Given the description of an element on the screen output the (x, y) to click on. 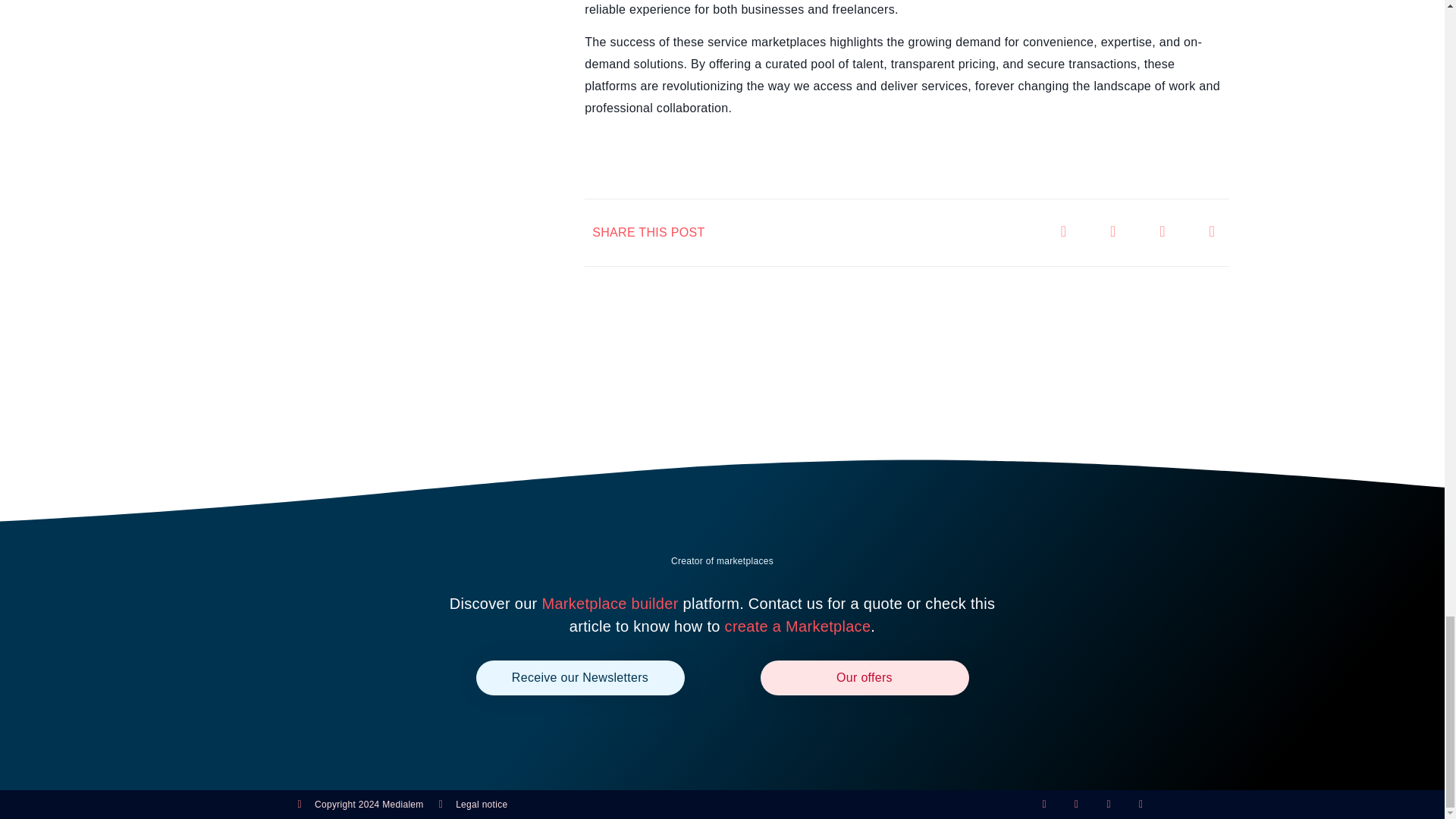
Marketplace builder (609, 603)
Receive our Newsletters (580, 677)
Our offers (864, 677)
create a Marketplace (797, 626)
Legal notice (473, 804)
